Given the description of an element on the screen output the (x, y) to click on. 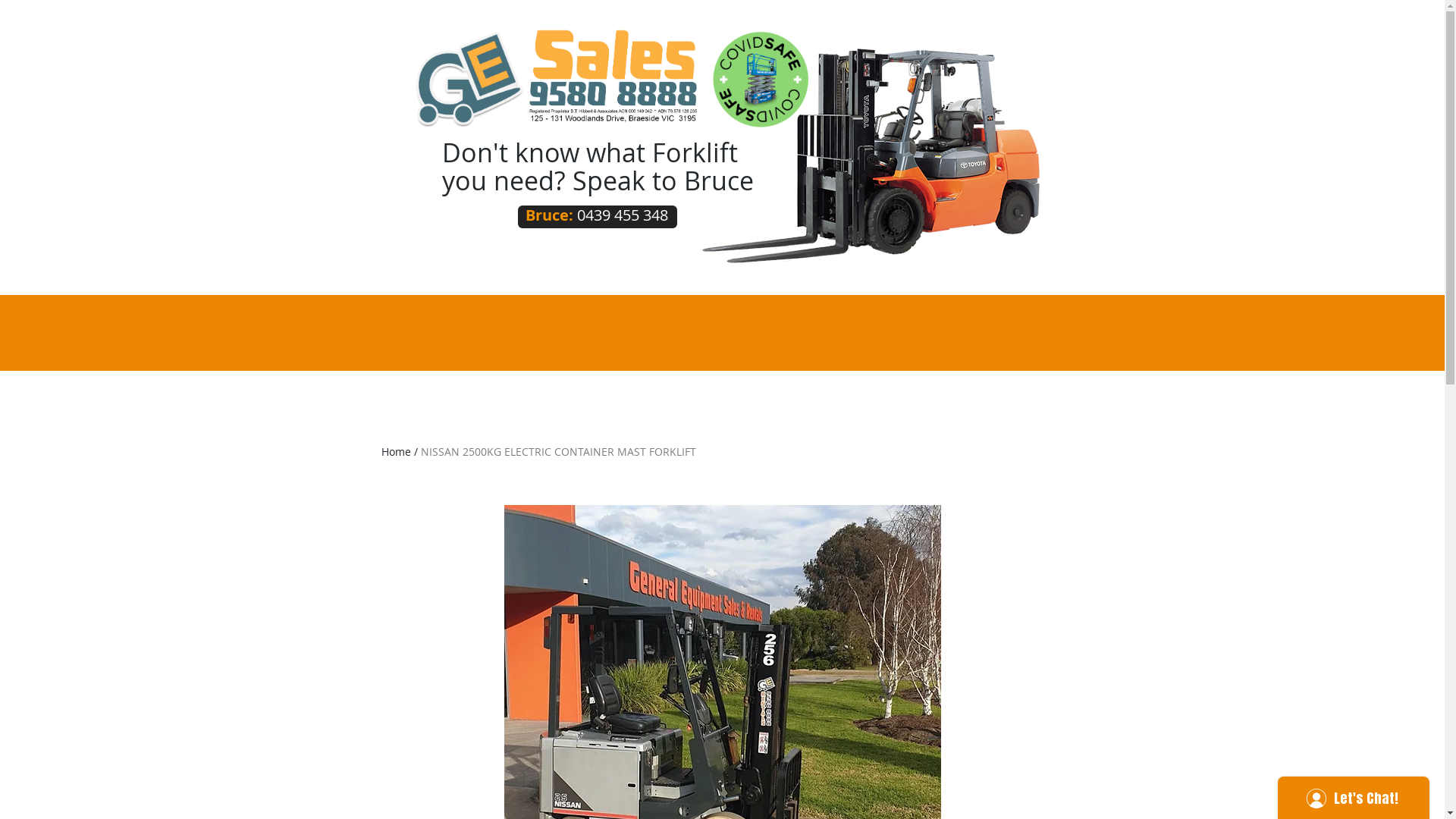
NISSAN 2500KG ELECTRIC CONTAINER MAST FORKLIFT Element type: text (557, 451)
Home Element type: text (395, 451)
